Given the description of an element on the screen output the (x, y) to click on. 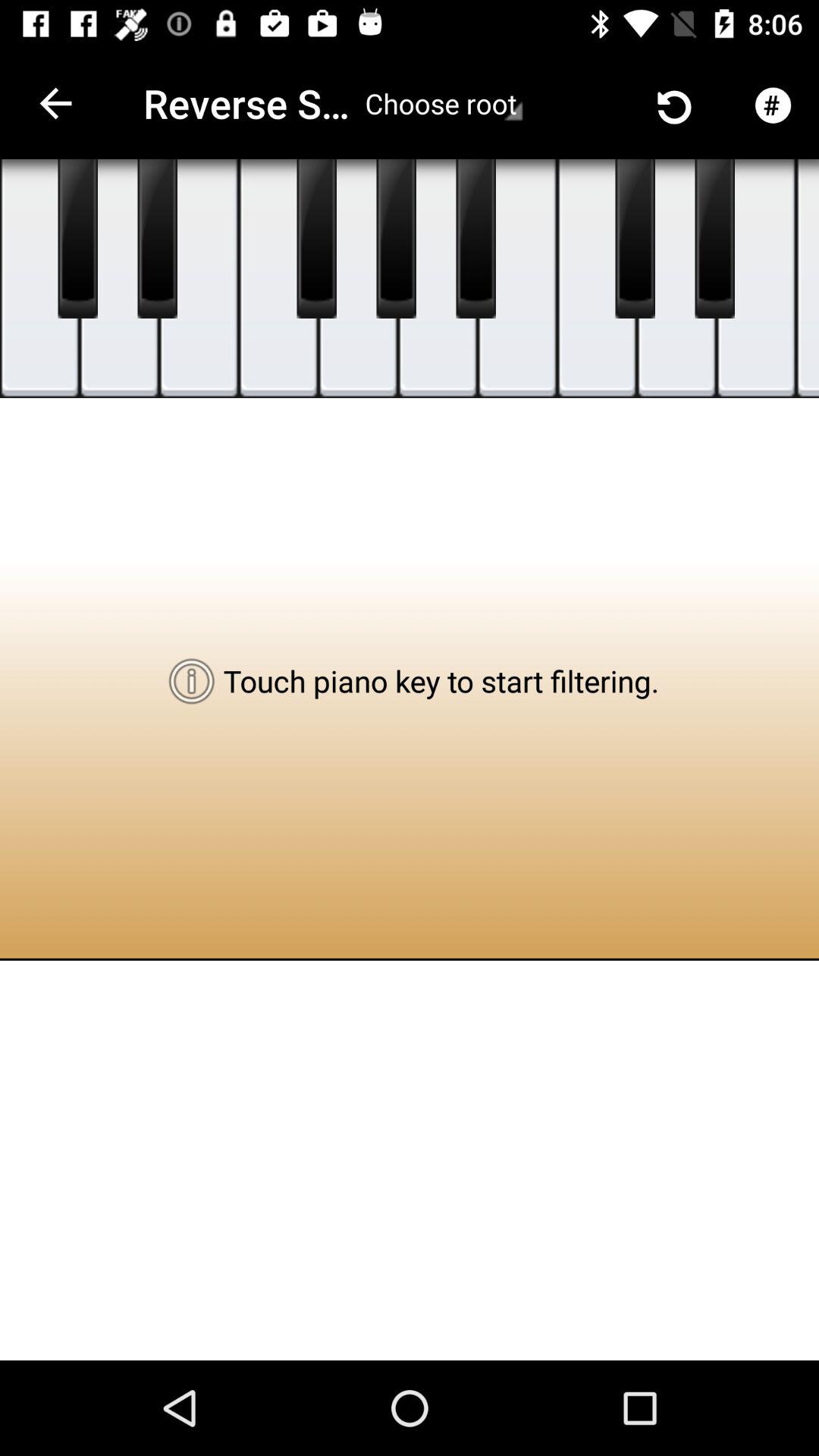
tap item below choose root (475, 238)
